Given the description of an element on the screen output the (x, y) to click on. 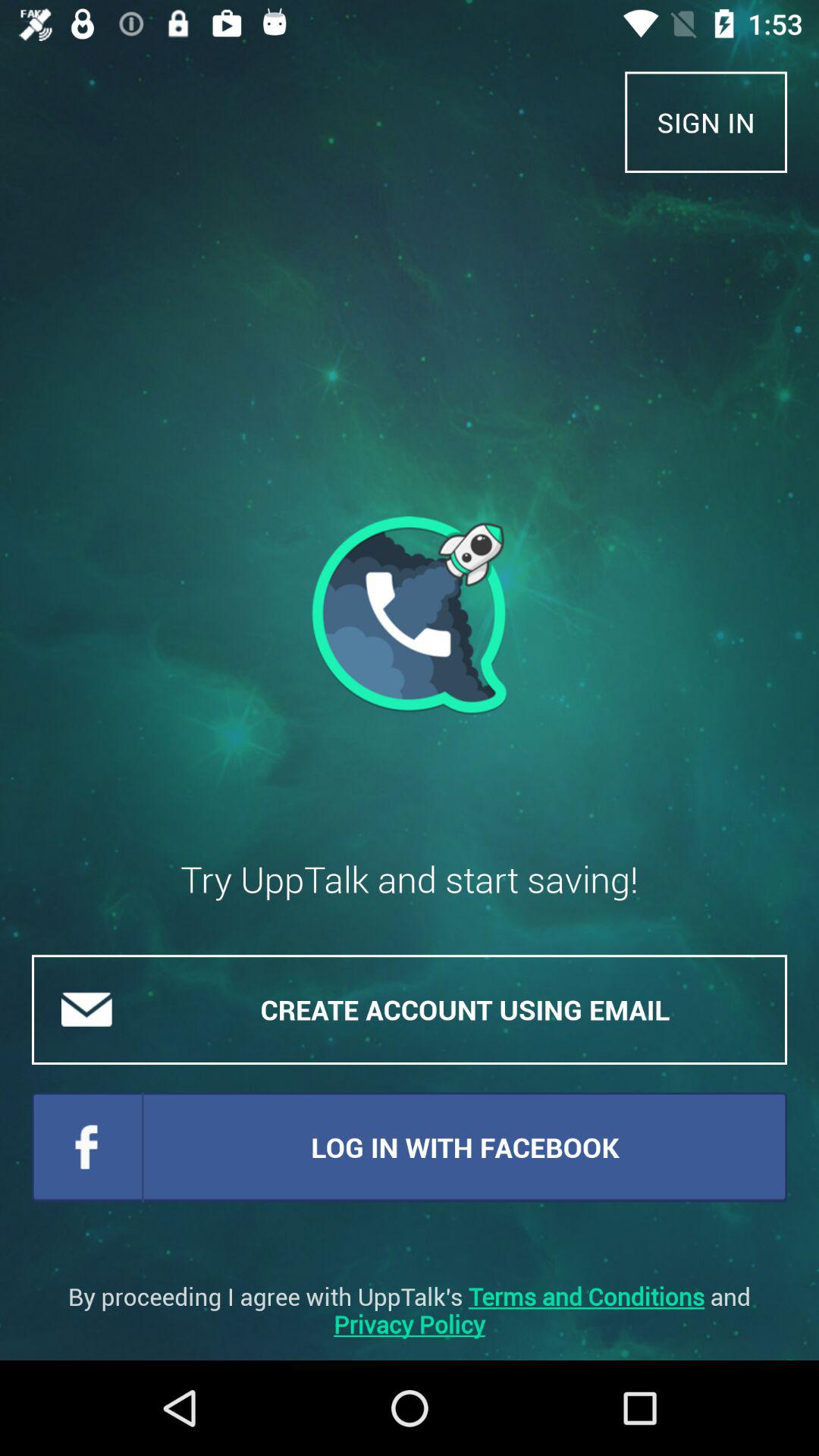
tap the item at the top right corner (706, 121)
